Given the description of an element on the screen output the (x, y) to click on. 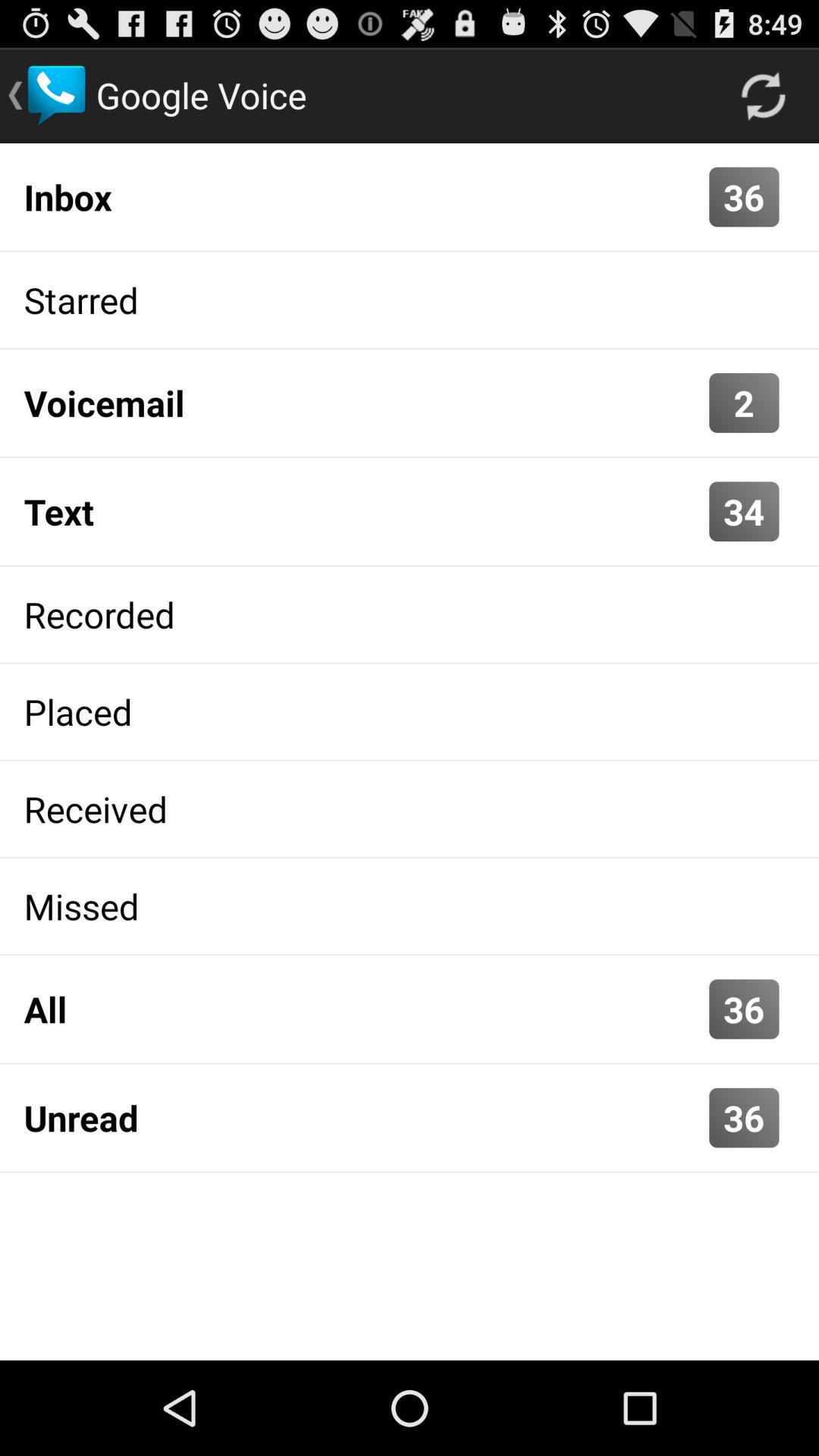
choose received icon (409, 808)
